Given the description of an element on the screen output the (x, y) to click on. 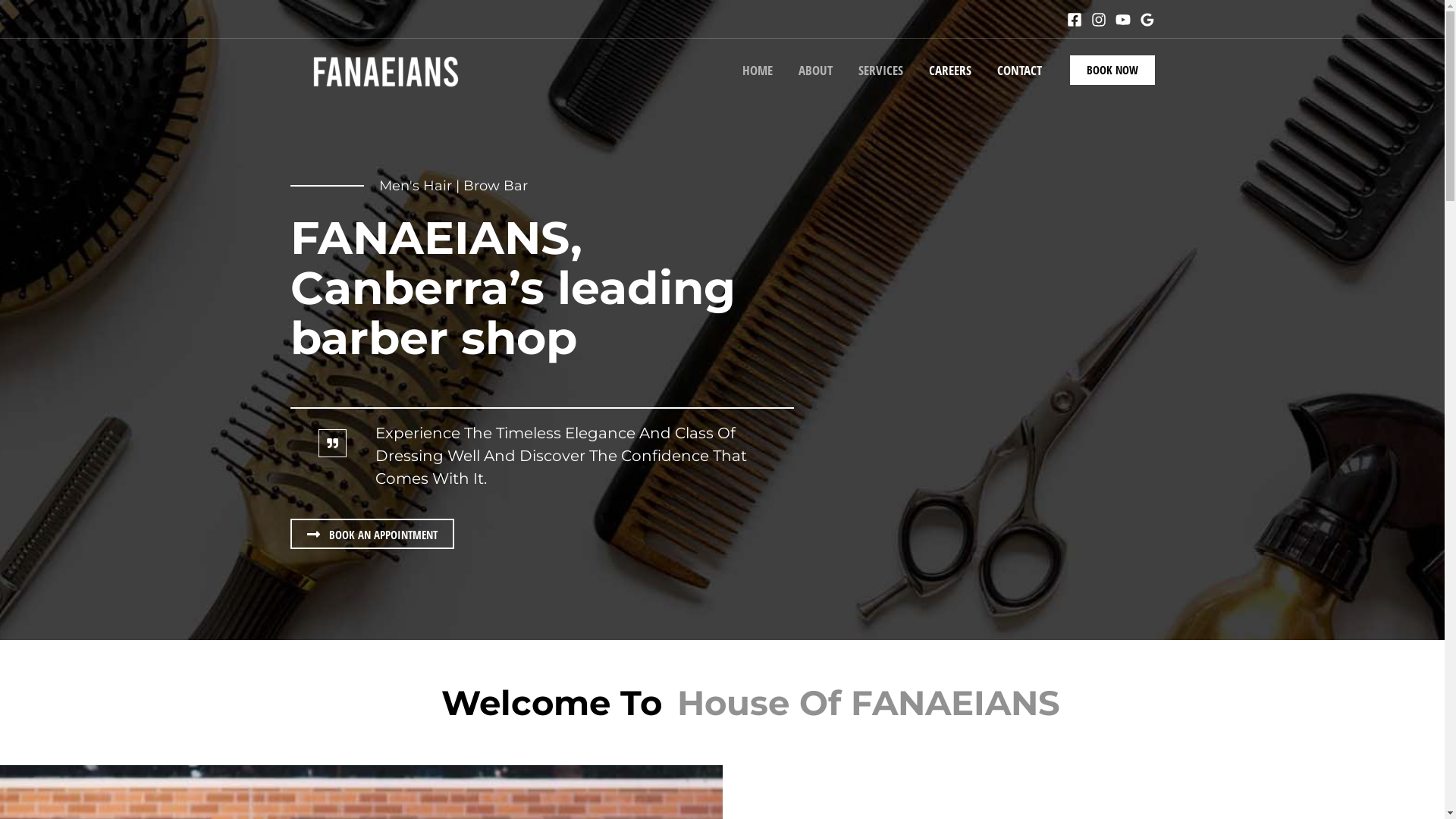
BOOK AN APPOINTMENT Element type: text (371, 533)
SERVICES Element type: text (879, 70)
CAREERS Element type: text (950, 70)
HOME Element type: text (757, 70)
ABOUT Element type: text (815, 70)
CONTACT Element type: text (1019, 70)
BOOK NOW Element type: text (1111, 69)
